Given the description of an element on the screen output the (x, y) to click on. 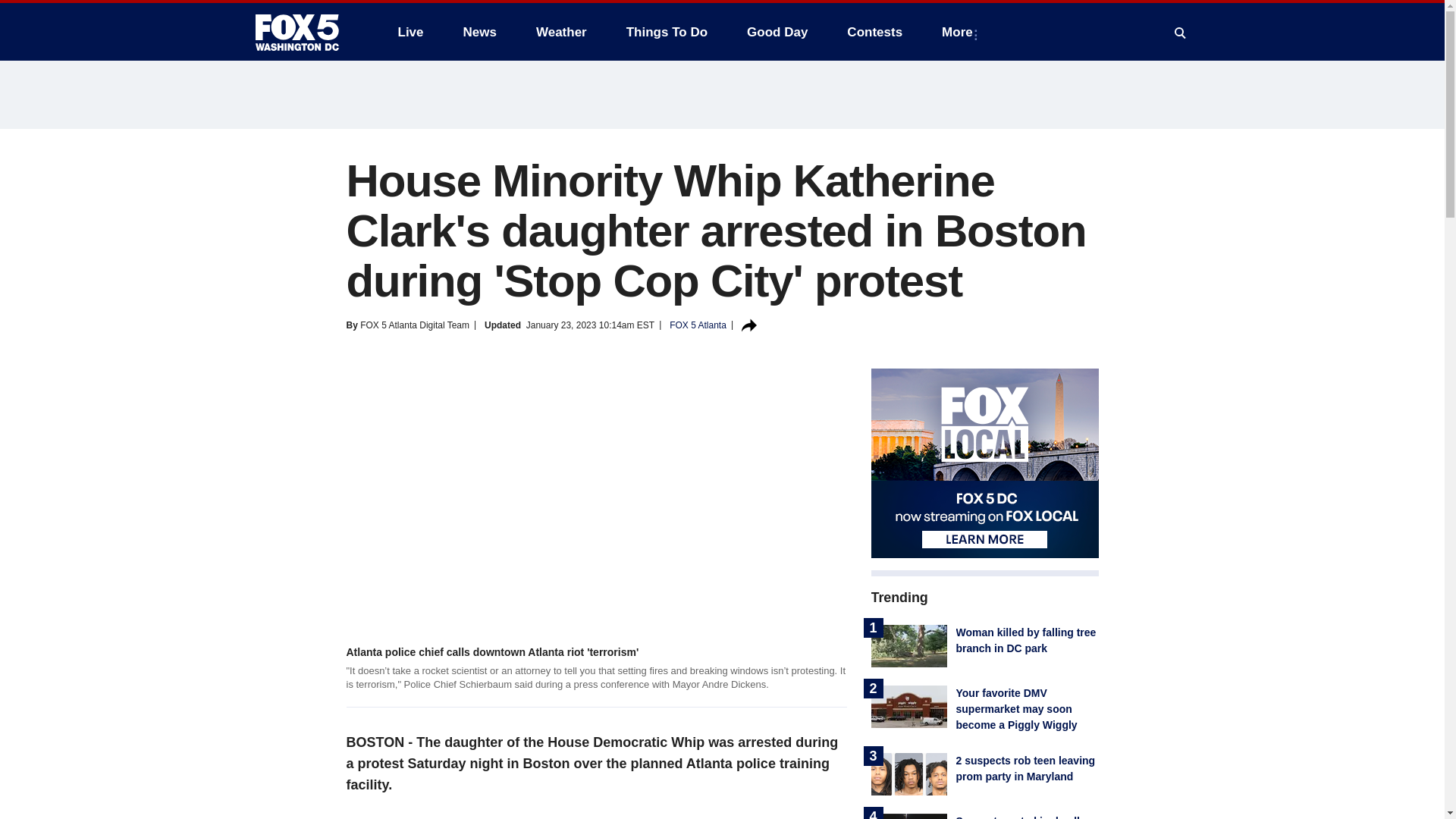
Contests (874, 32)
Good Day (777, 32)
Live (410, 32)
More (960, 32)
Weather (561, 32)
Things To Do (666, 32)
News (479, 32)
